Given the description of an element on the screen output the (x, y) to click on. 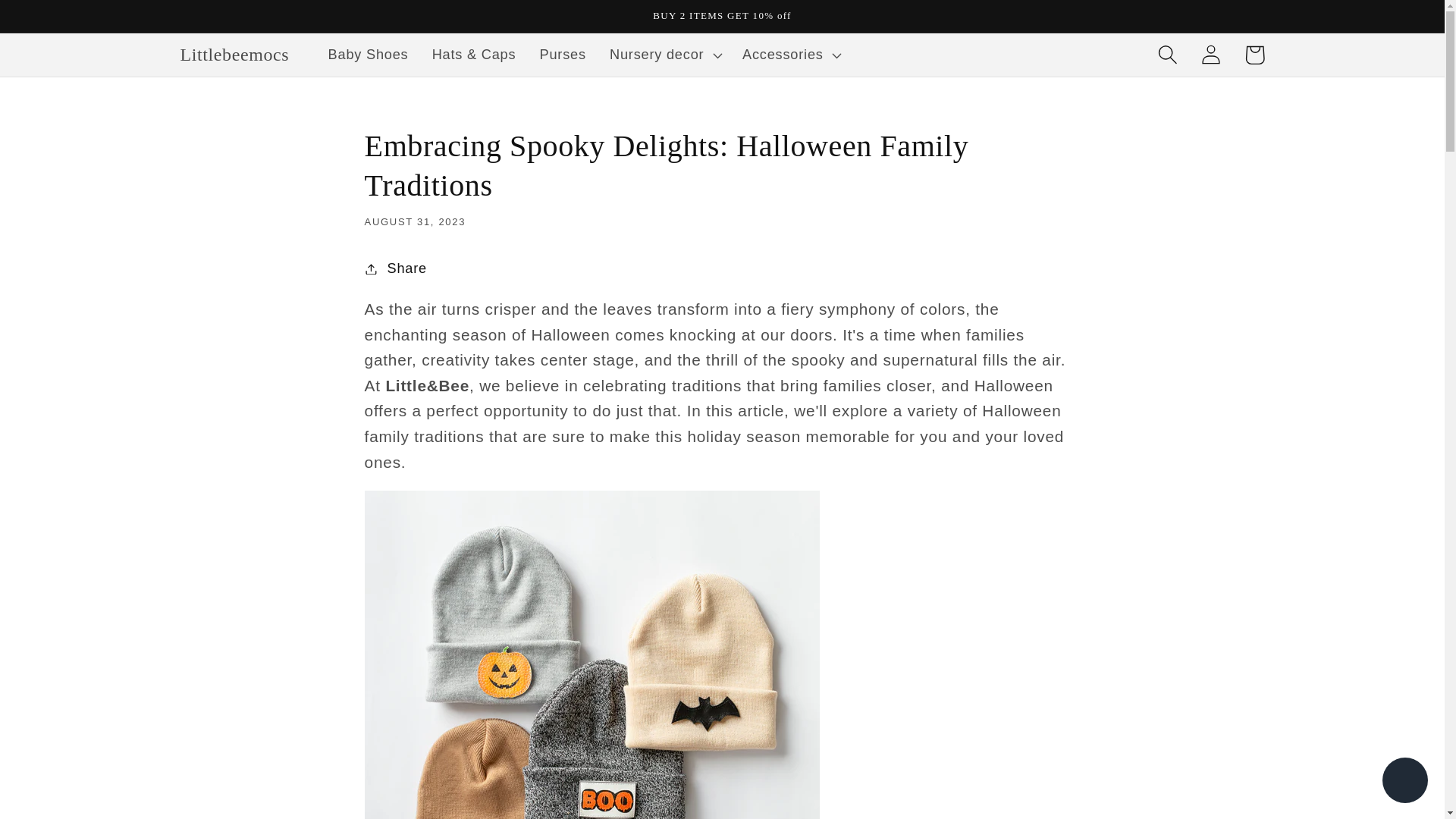
Shopify online store chat (1404, 781)
Log in (1211, 54)
Littlebeemocs (235, 55)
Cart (1254, 54)
Baby Shoes (367, 55)
Purses (561, 55)
Skip to content (59, 22)
